Given the description of an element on the screen output the (x, y) to click on. 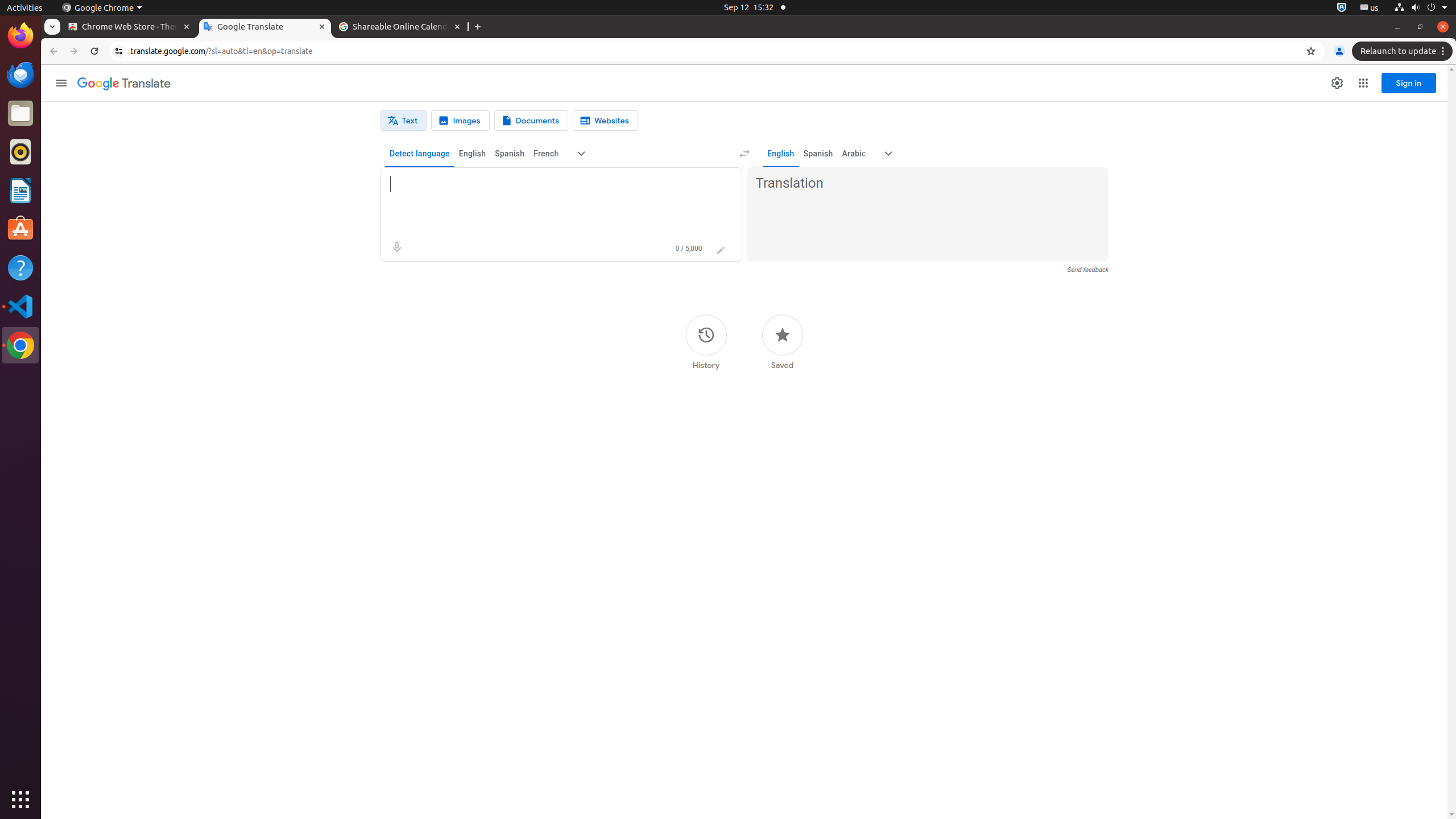
Show Applications Element type: toggle-button (20, 799)
